Given the description of an element on the screen output the (x, y) to click on. 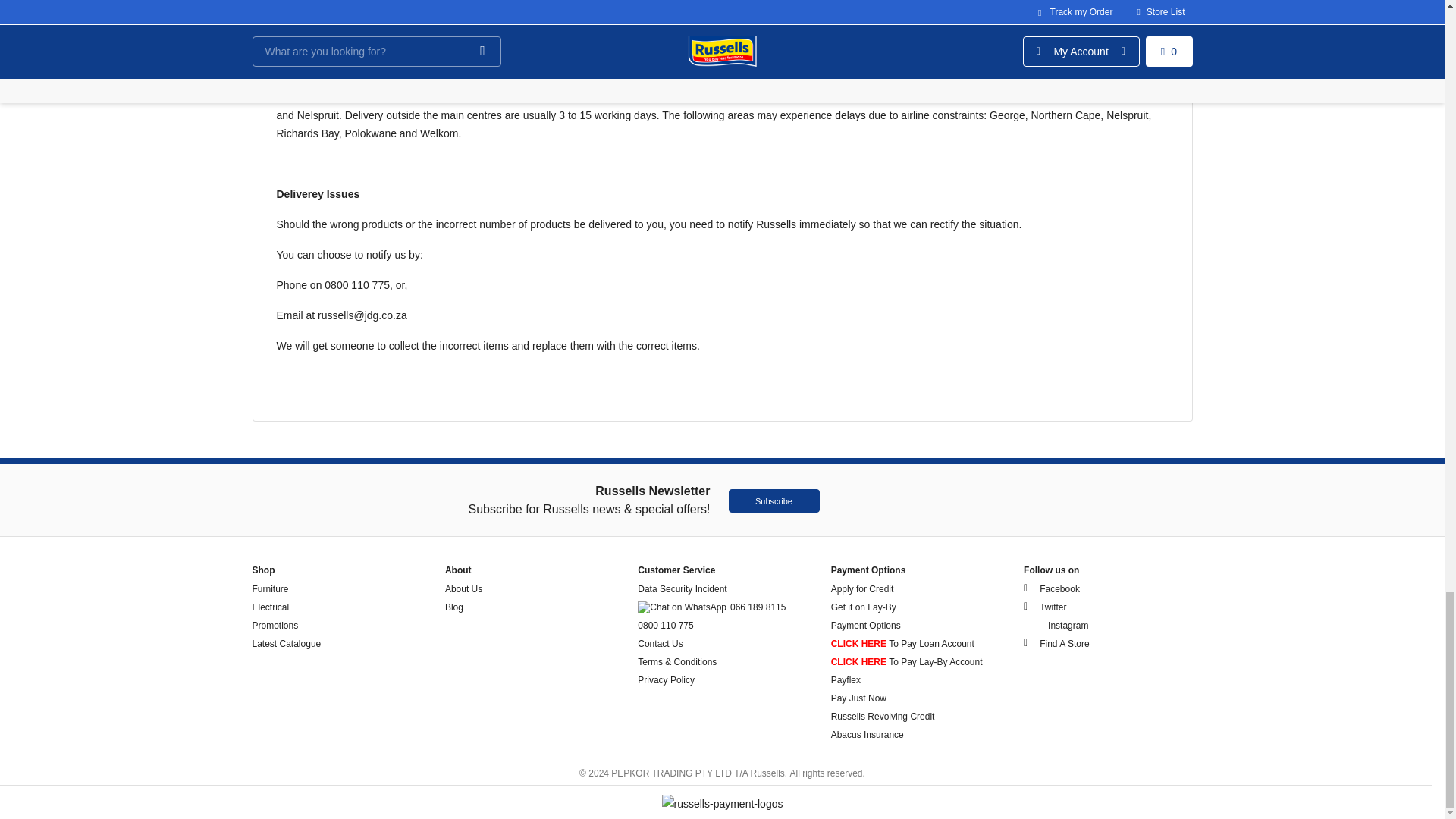
Subscribe (773, 500)
